Given the description of an element on the screen output the (x, y) to click on. 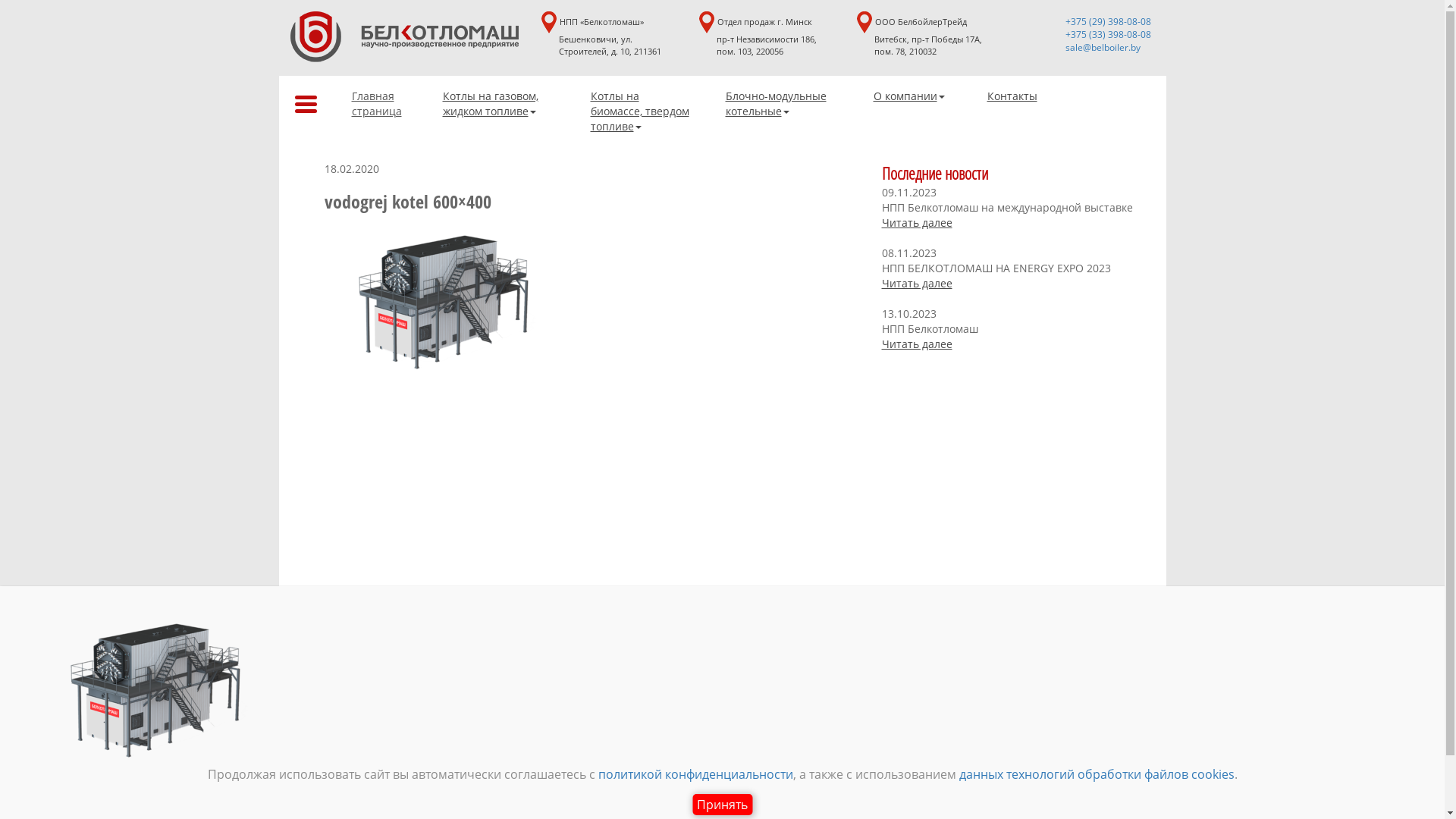
+375 (33) 398-08-08 Element type: text (1107, 34)
+375 (29) 398-08-08 Element type: text (1050, 628)
sale@belboiler.by Element type: text (1101, 46)
+375 (29) 398-08-08 Element type: text (1107, 21)
sale@belboiler.by Element type: text (1043, 681)
+375 (33) 398-08-08 Element type: text (1050, 654)
